Given the description of an element on the screen output the (x, y) to click on. 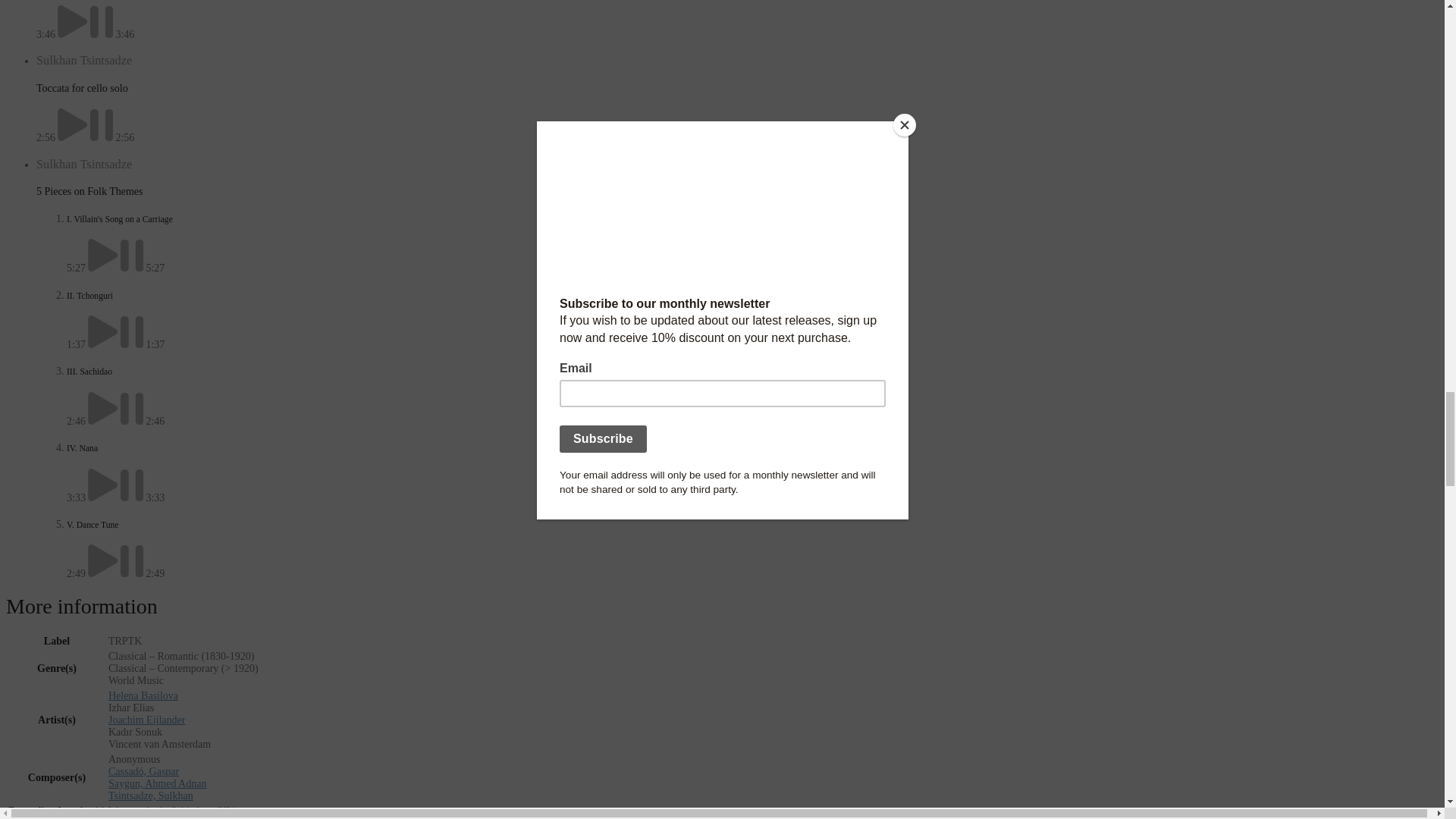
Tsintsadze, Sulkhan (150, 795)
Joachim Eijlander (145, 719)
Saygun, Ahmed Adnan (156, 783)
Helena Basilova (142, 695)
